Given the description of an element on the screen output the (x, y) to click on. 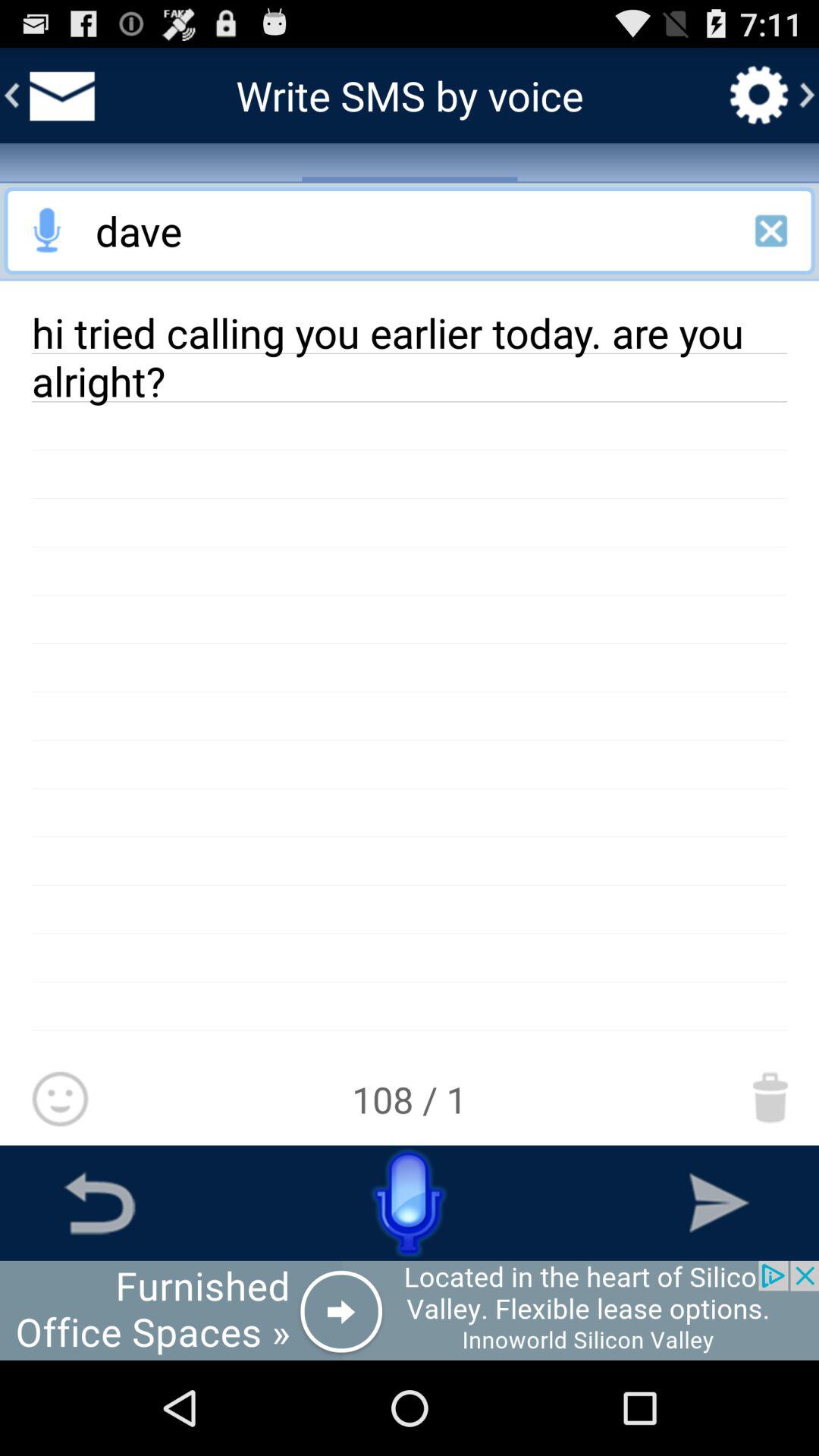
open settlings (759, 95)
